Given the description of an element on the screen output the (x, y) to click on. 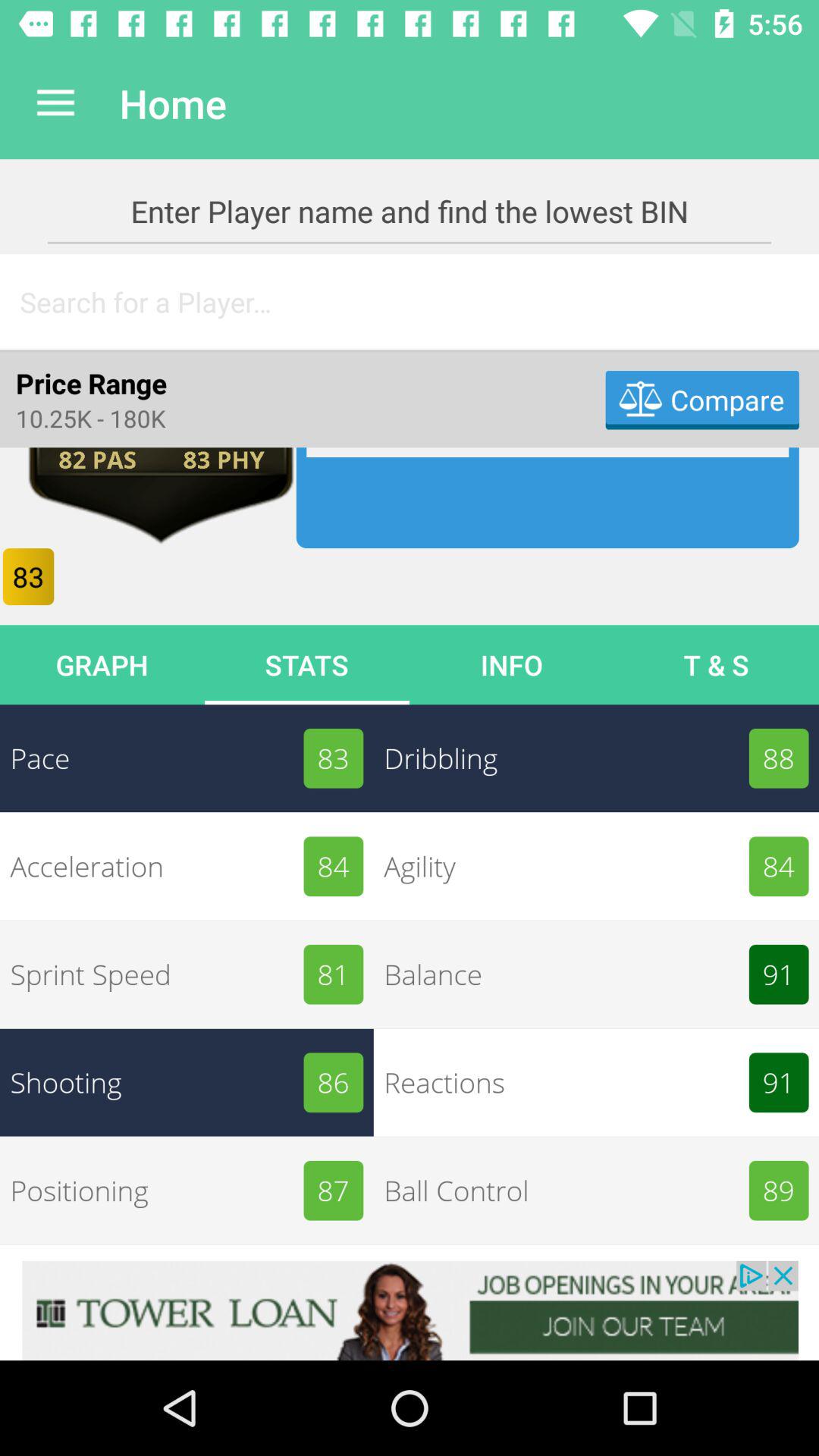
search bar (409, 301)
